Given the description of an element on the screen output the (x, y) to click on. 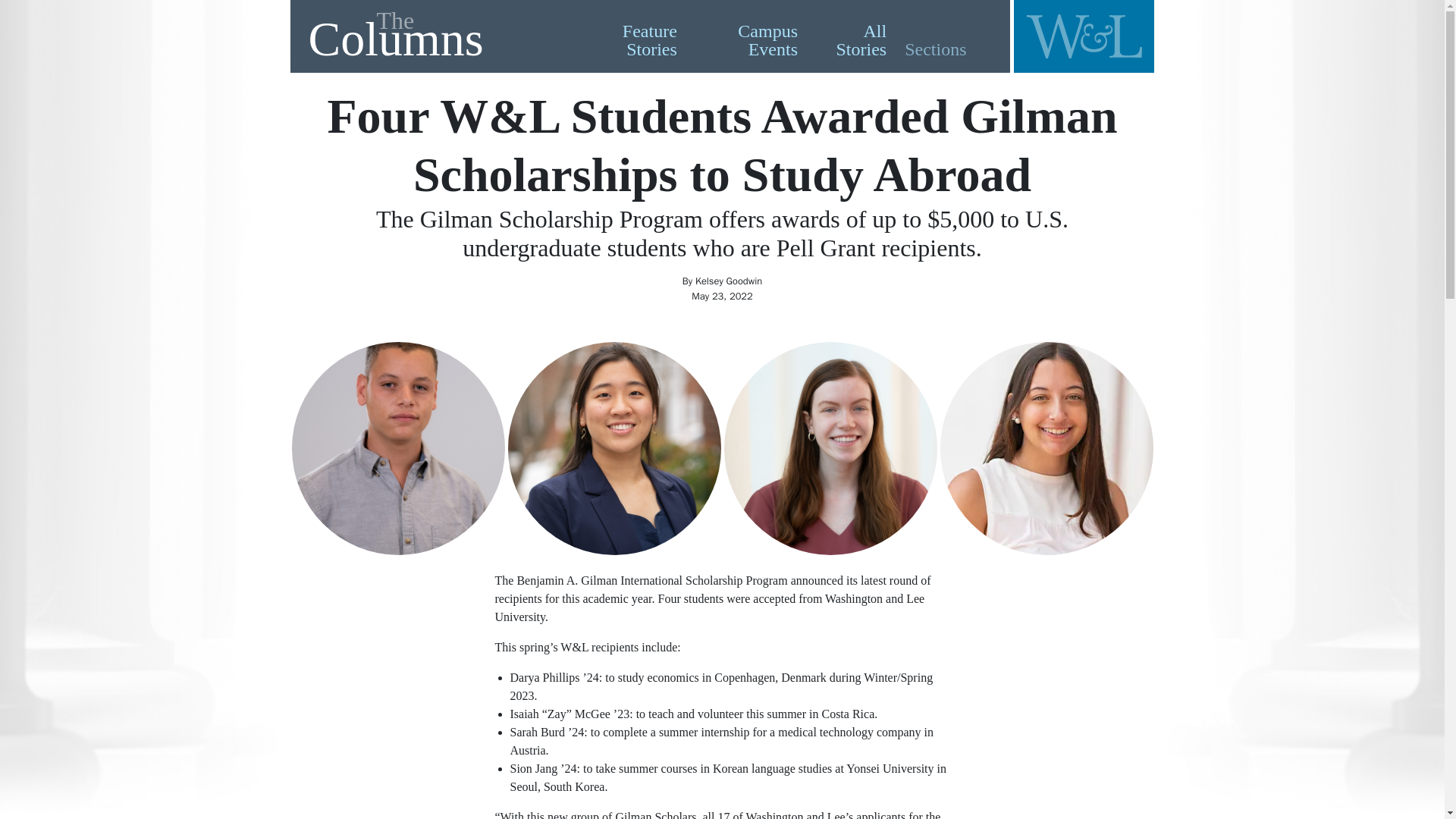
Campus Events (746, 40)
Feature Stories (627, 40)
Sections (433, 36)
All Stories (937, 49)
